Given the description of an element on the screen output the (x, y) to click on. 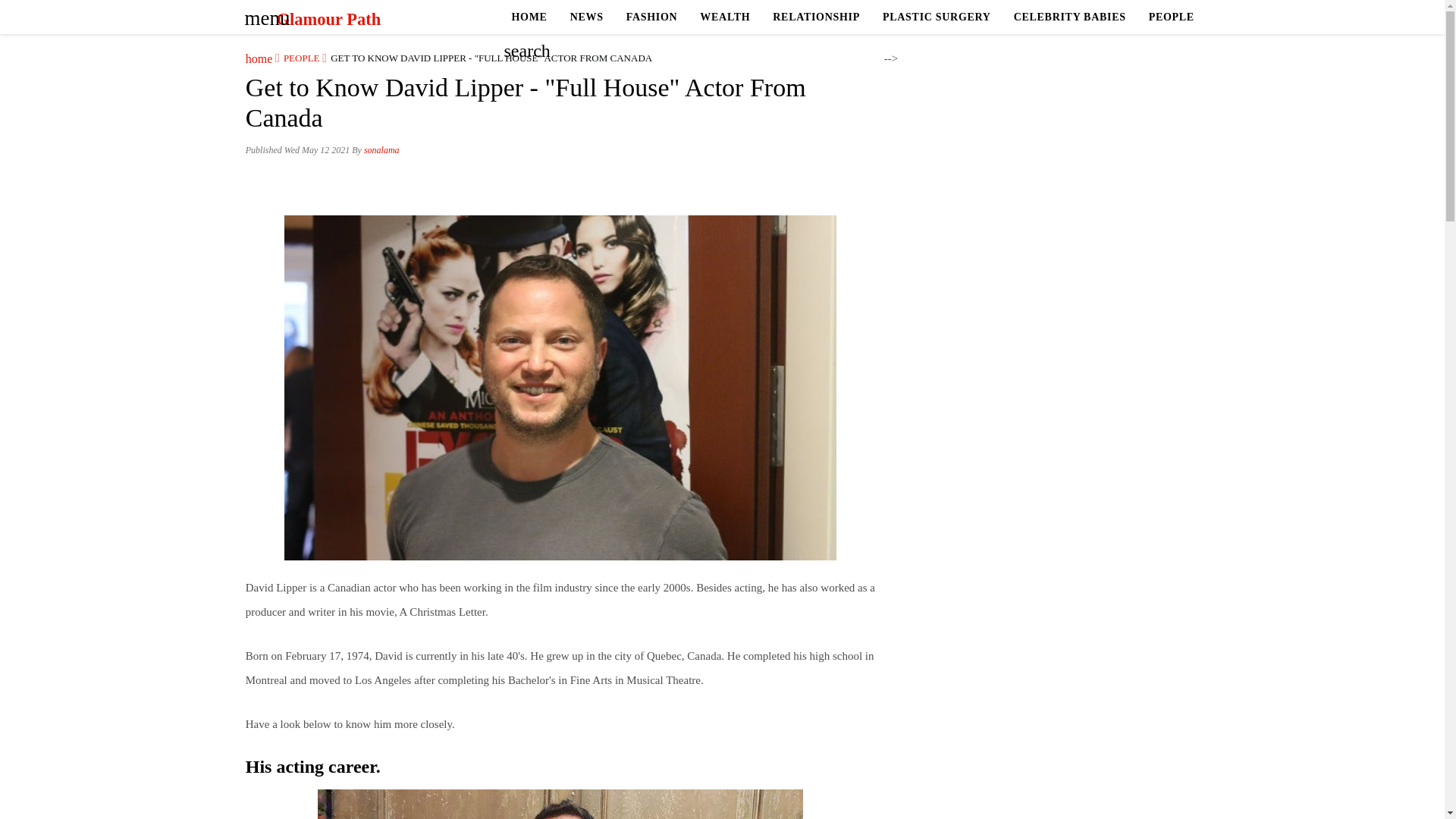
PLASTIC SURGERY (936, 17)
WEALTH (724, 17)
PEOPLE (297, 57)
RELATIONSHIP (815, 17)
Glamour Path (328, 18)
home (259, 57)
menu (262, 13)
sonalama (381, 149)
PEOPLE (1171, 17)
FASHION (651, 17)
CELEBRITY BABIES (1070, 17)
NEWS (586, 17)
HOME (529, 17)
